Given the description of an element on the screen output the (x, y) to click on. 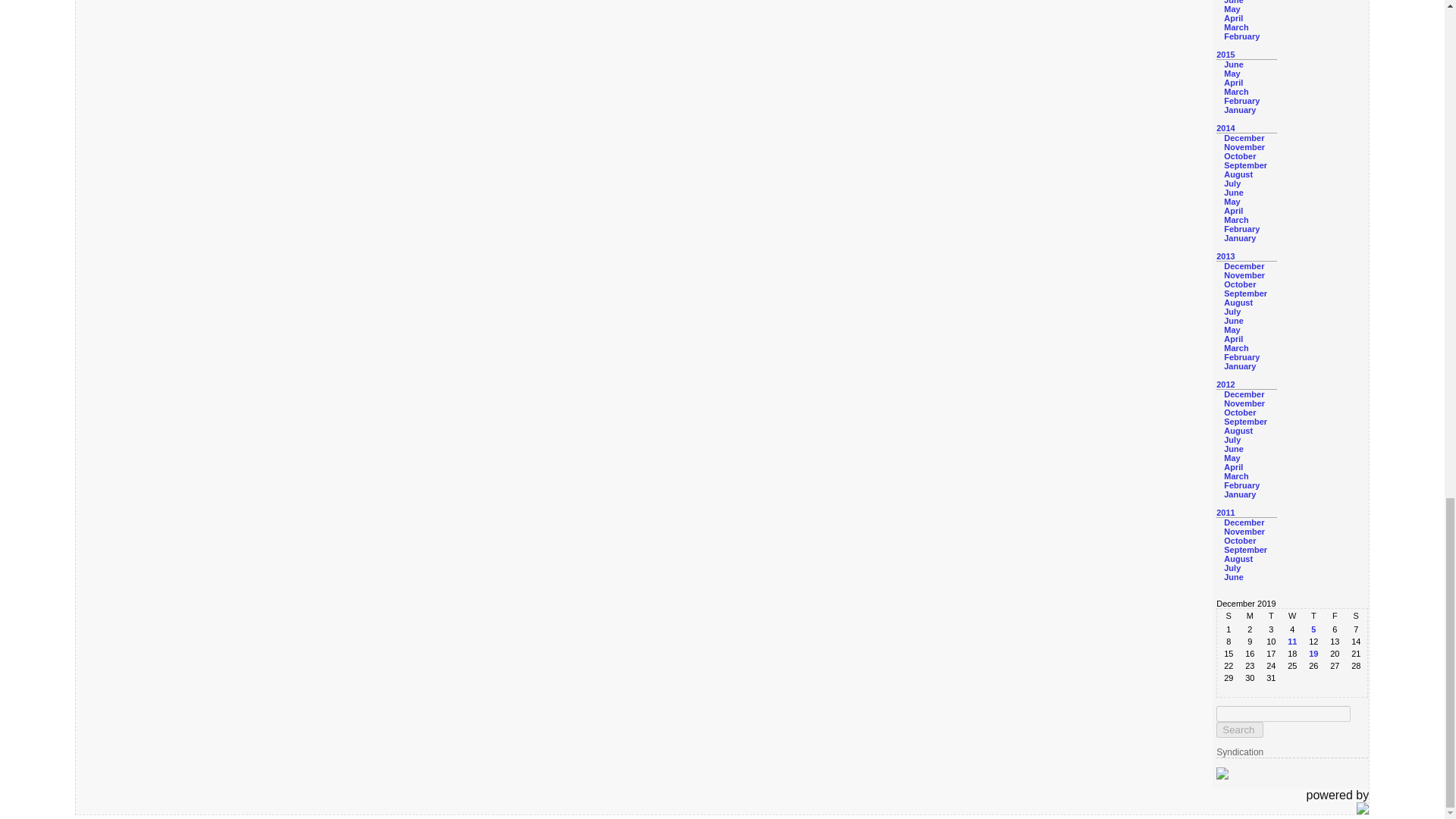
Tuesday (1270, 615)
Wednesday (1291, 615)
Monday (1249, 615)
Search  (1239, 729)
Thursday (1313, 615)
Saturday (1355, 615)
Friday (1333, 615)
Sunday (1228, 615)
